Given the description of an element on the screen output the (x, y) to click on. 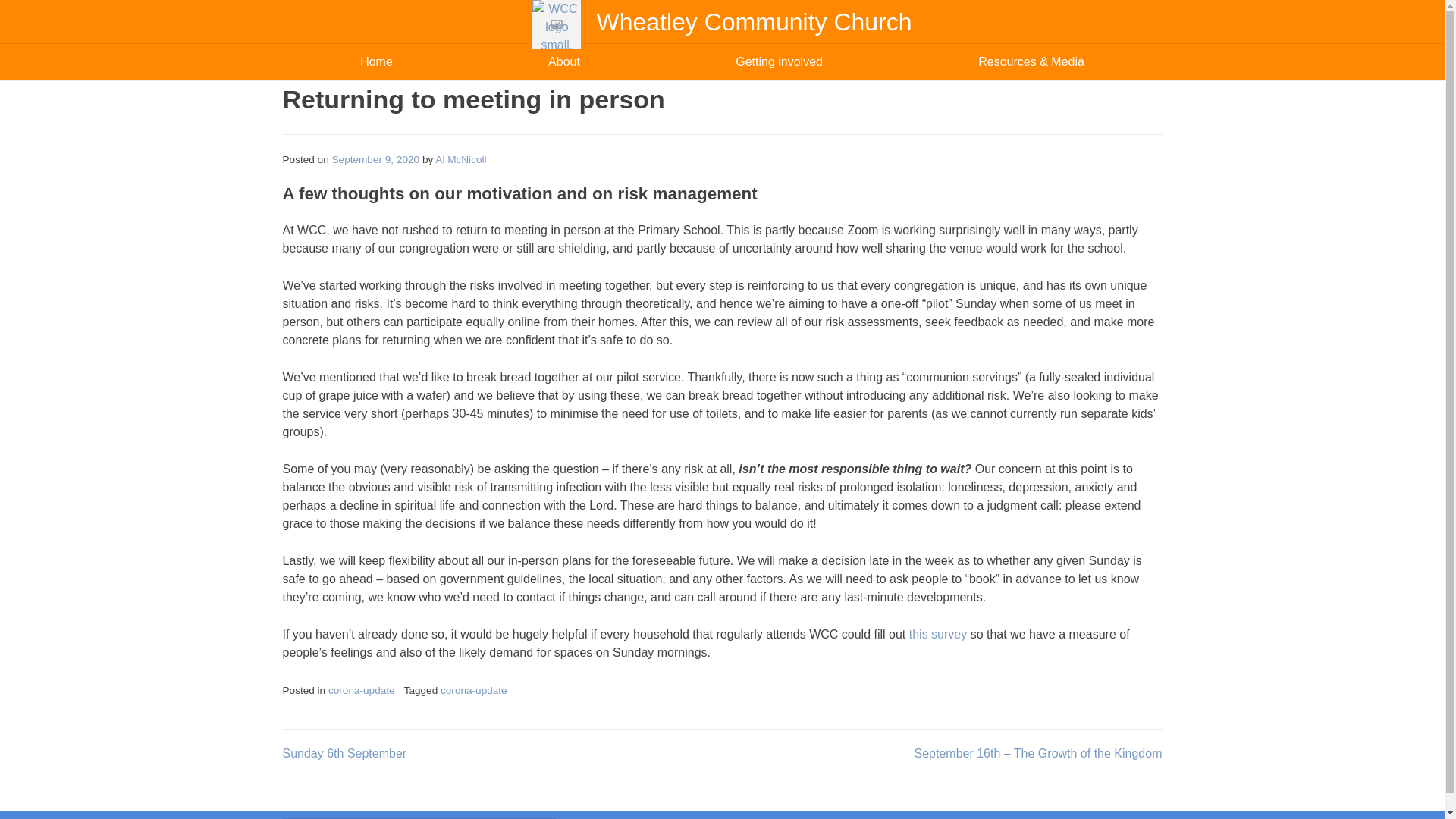
corona-update (361, 690)
About (564, 62)
Sunday 6th September (344, 753)
corona-update (473, 690)
Al McNicoll (460, 159)
Wheatley Community Church (753, 22)
this survey (937, 634)
Home (376, 62)
September 9, 2020 (375, 159)
Getting involved (779, 62)
